Given the description of an element on the screen output the (x, y) to click on. 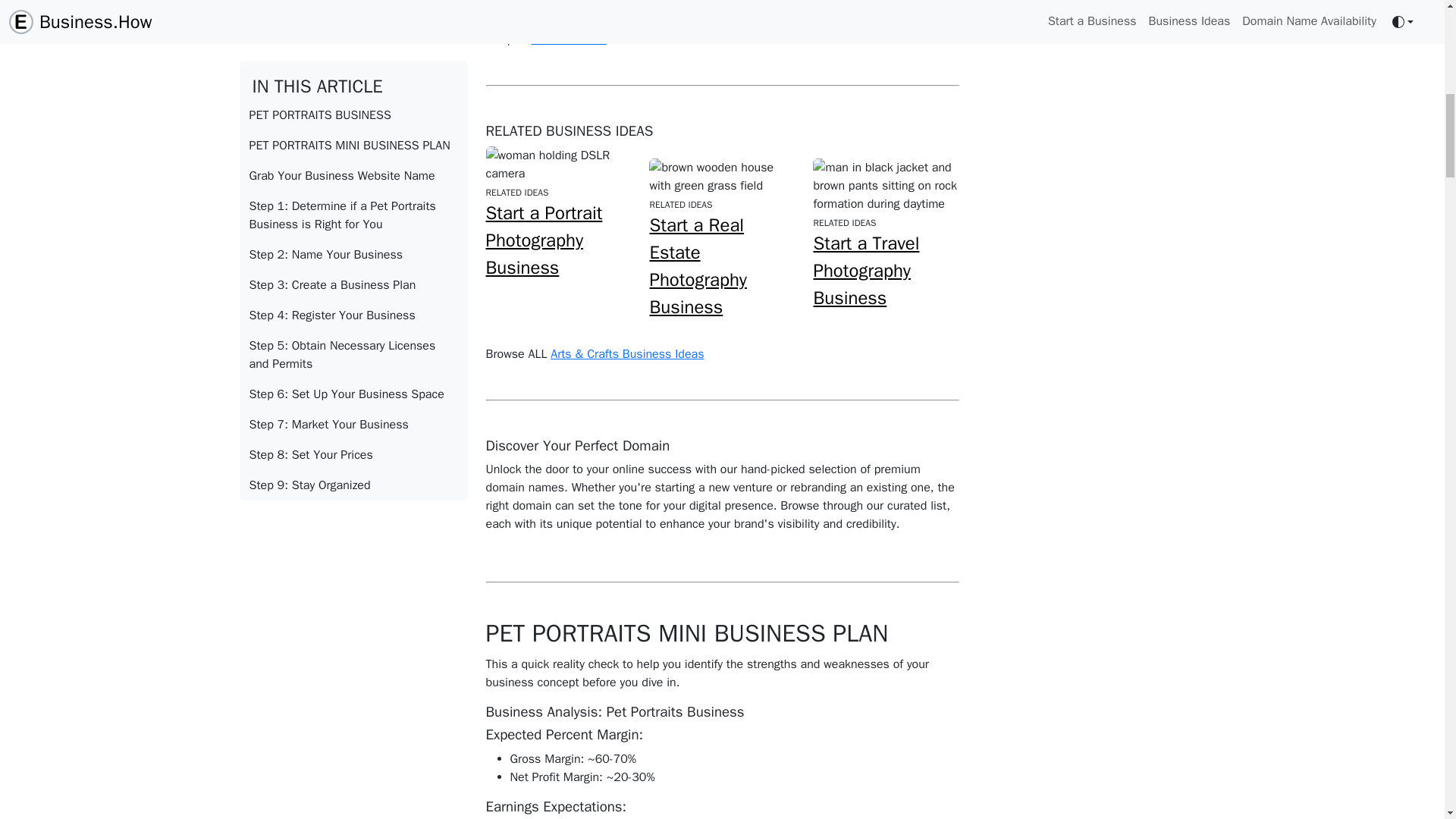
Step 9: Stay Organized (353, 60)
Start a Real Estate Photography Business (697, 265)
Start a Travel Photography Business (865, 270)
Step 8: Set Your Prices (353, 30)
Start a Portrait Photography Business (543, 240)
Step 7: Market Your Business (353, 7)
Business Plan (569, 38)
